Given the description of an element on the screen output the (x, y) to click on. 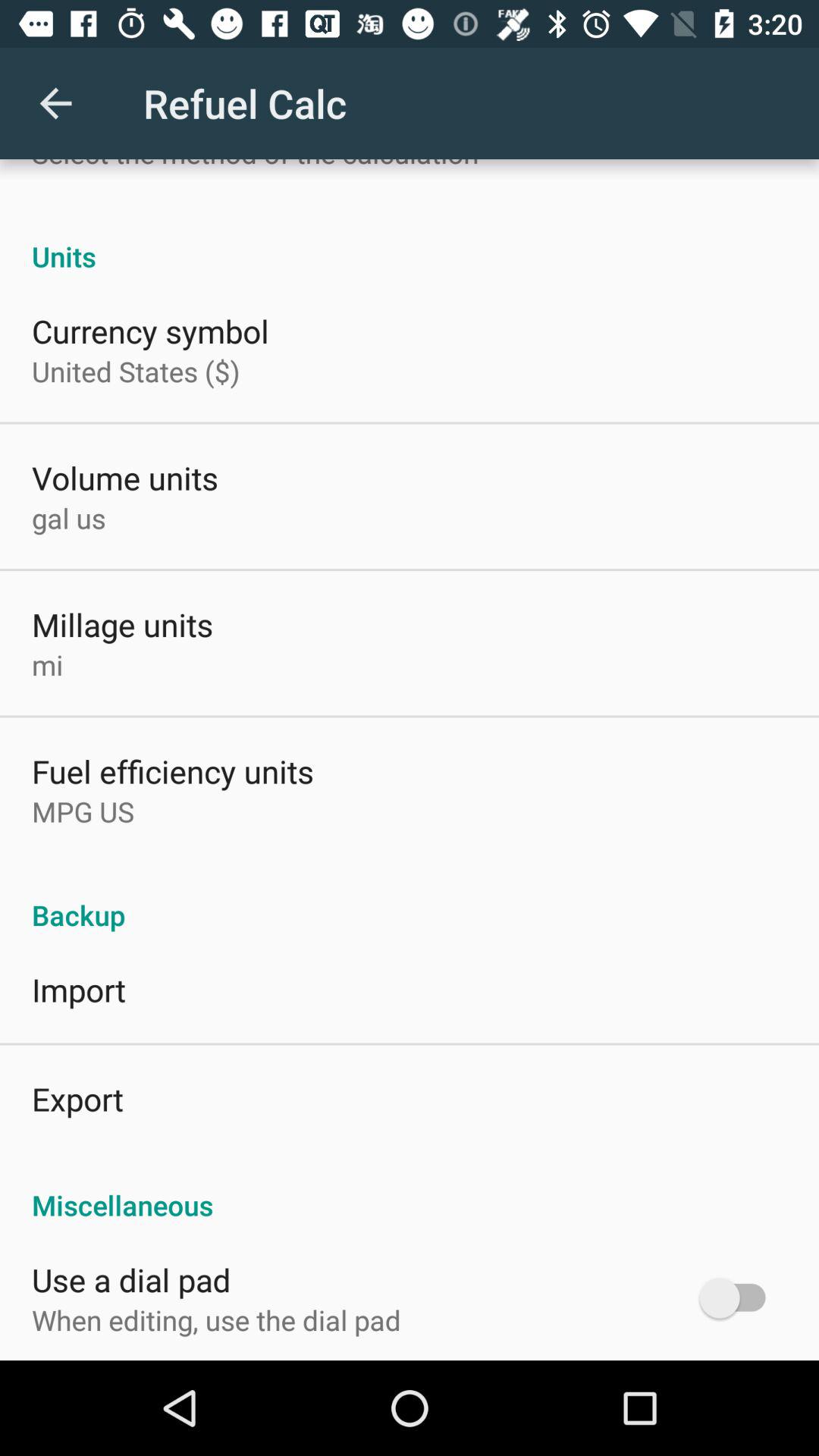
launch icon next to the when editing use app (739, 1298)
